Given the description of an element on the screen output the (x, y) to click on. 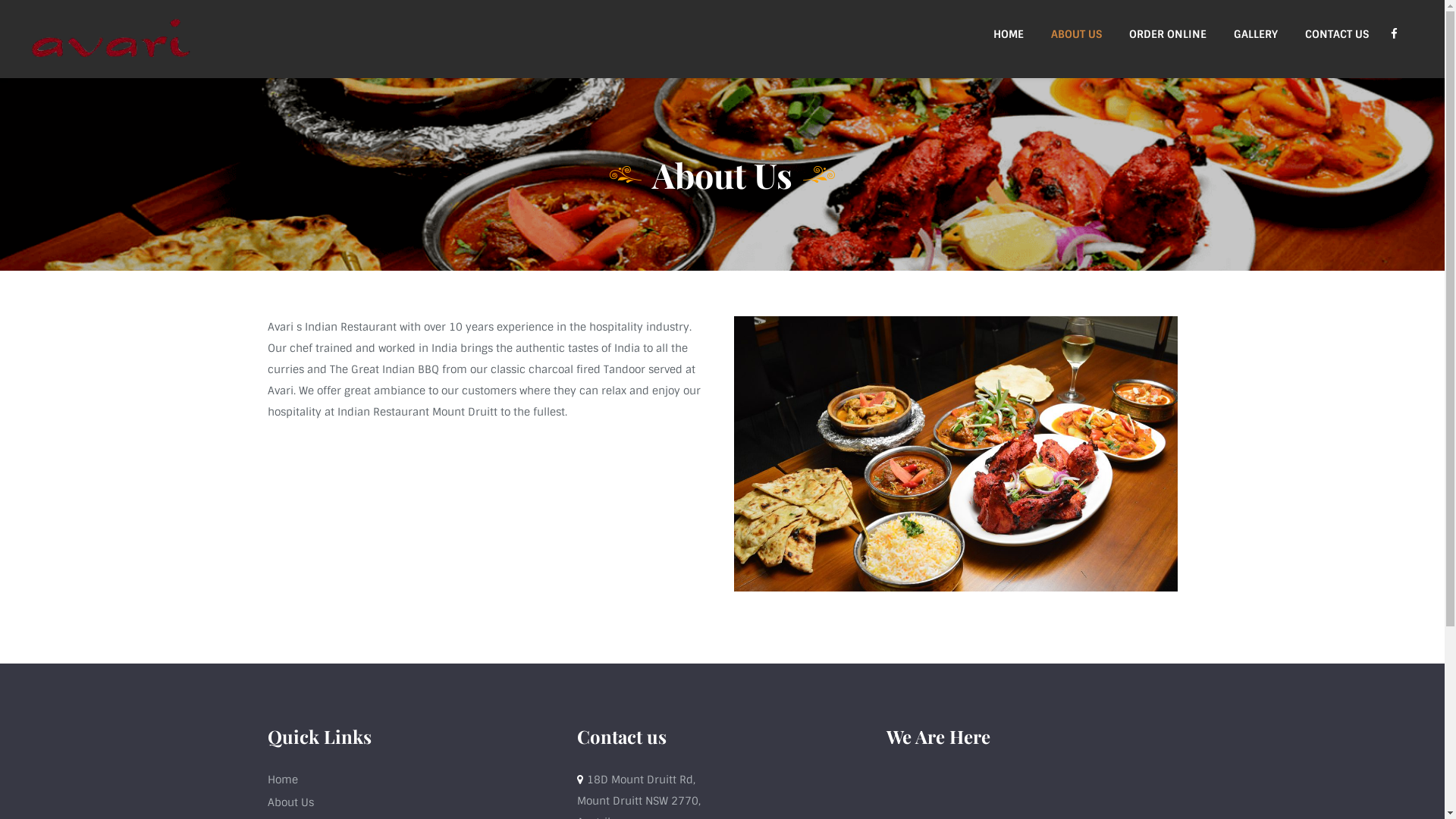
Home Element type: text (281, 779)
Avari Indian Restaurant Element type: hover (110, 39)
GALLERY Element type: text (1255, 34)
About Us Element type: text (289, 802)
ORDER ONLINE Element type: text (1167, 34)
HOME Element type: text (1008, 34)
ABOUT US Element type: text (1076, 34)
Facebook Element type: hover (1393, 33)
CONTACT US Element type: text (1336, 34)
